Given the description of an element on the screen output the (x, y) to click on. 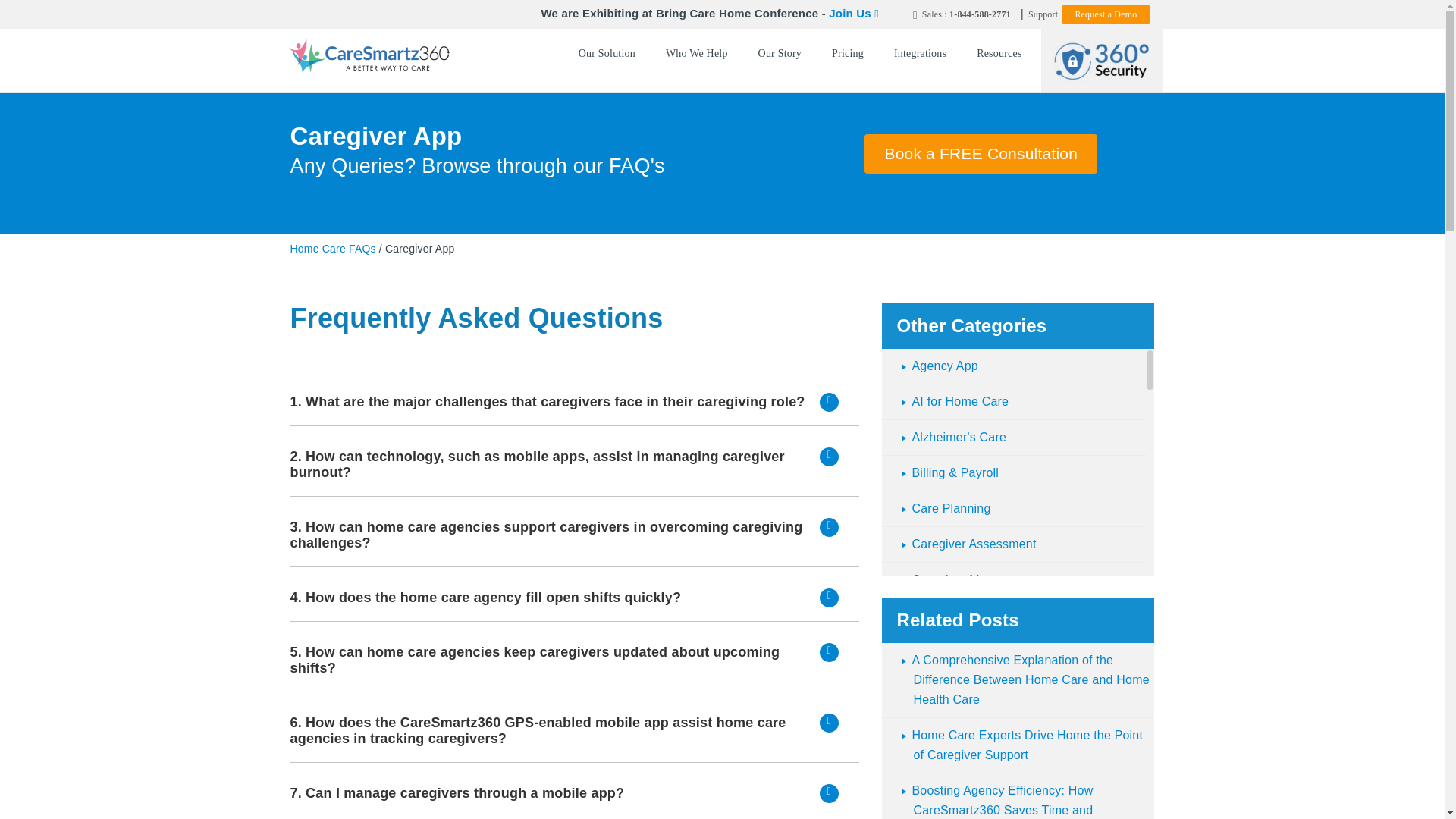
Sales : 1-844-588-2771 (961, 14)
Support (1042, 14)
Join Us (853, 12)
Request a Demo (1105, 14)
